Given the description of an element on the screen output the (x, y) to click on. 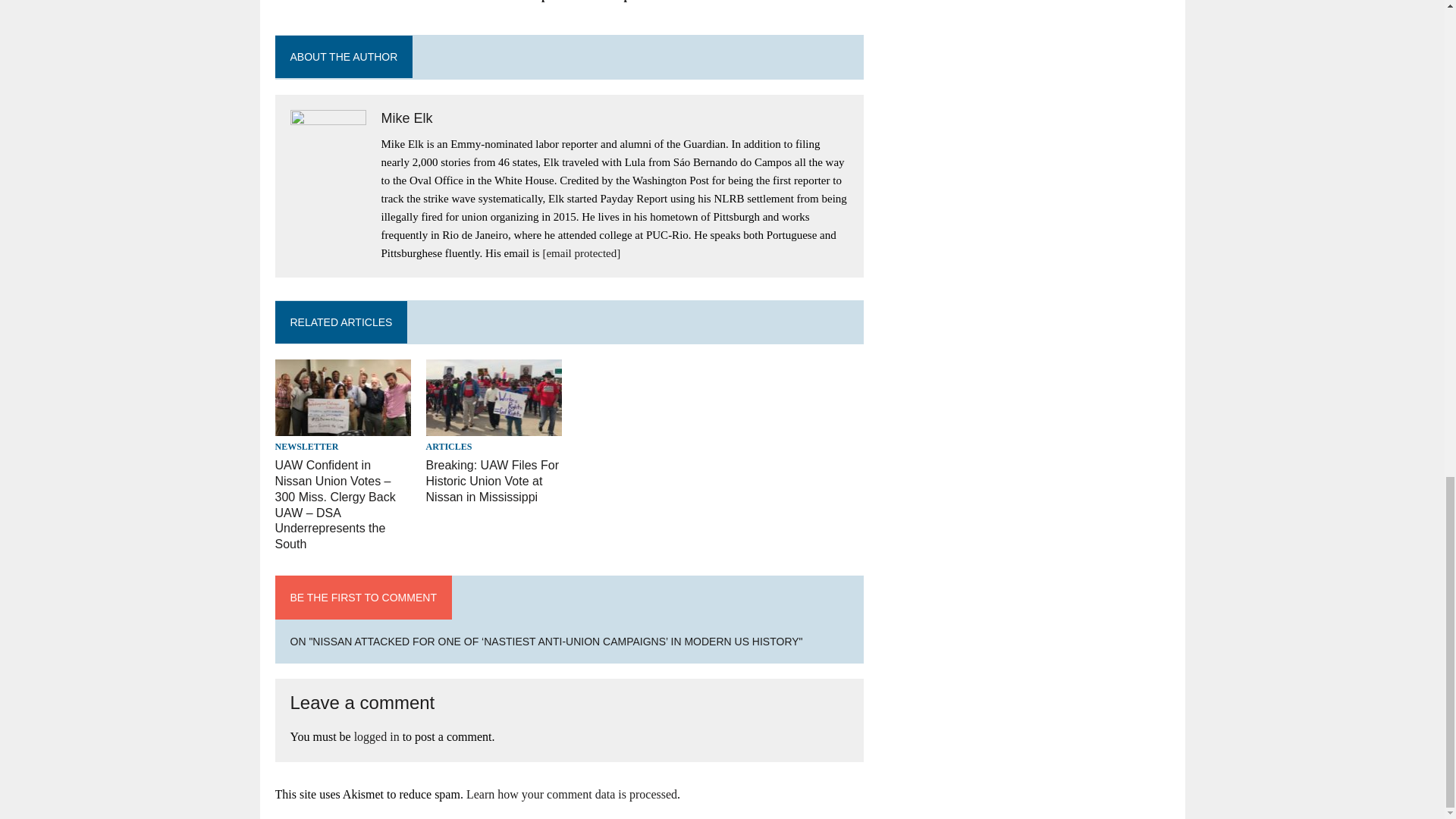
Previous post (518, 0)
Learn how your comment data is processed (571, 793)
logged in (375, 736)
Mike Elk (406, 118)
ARTICLES (448, 446)
NEWSLETTER (306, 446)
Next post (630, 0)
